Given the description of an element on the screen output the (x, y) to click on. 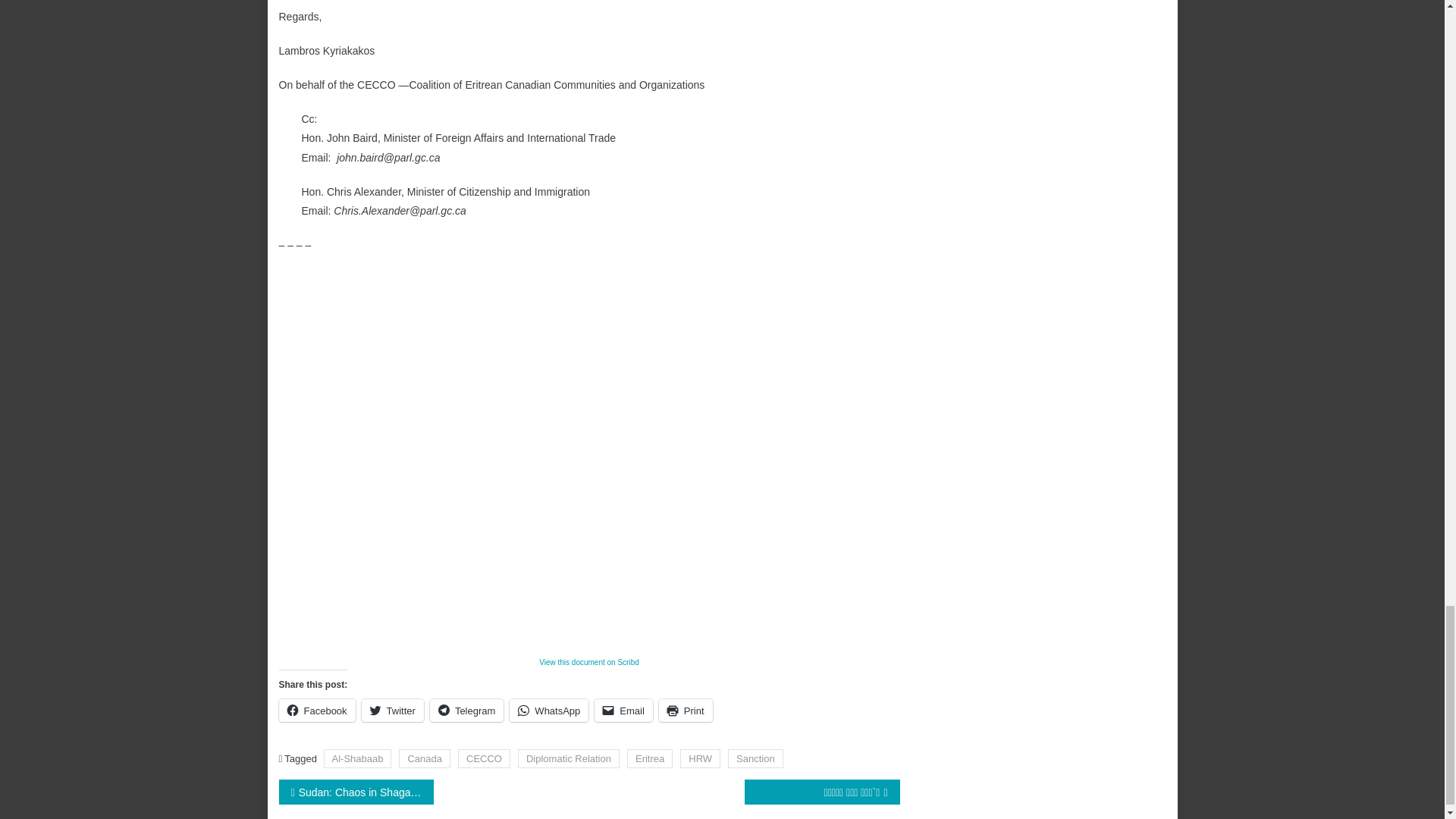
Telegram (466, 710)
Canada (423, 758)
Click to share on Telegram (466, 710)
Email (623, 710)
Click to share on WhatsApp (548, 710)
WhatsApp (548, 710)
Print (686, 710)
View this document on Scribd (588, 662)
Click to email a link to a friend (623, 710)
Click to share on Facebook (317, 710)
